Given the description of an element on the screen output the (x, y) to click on. 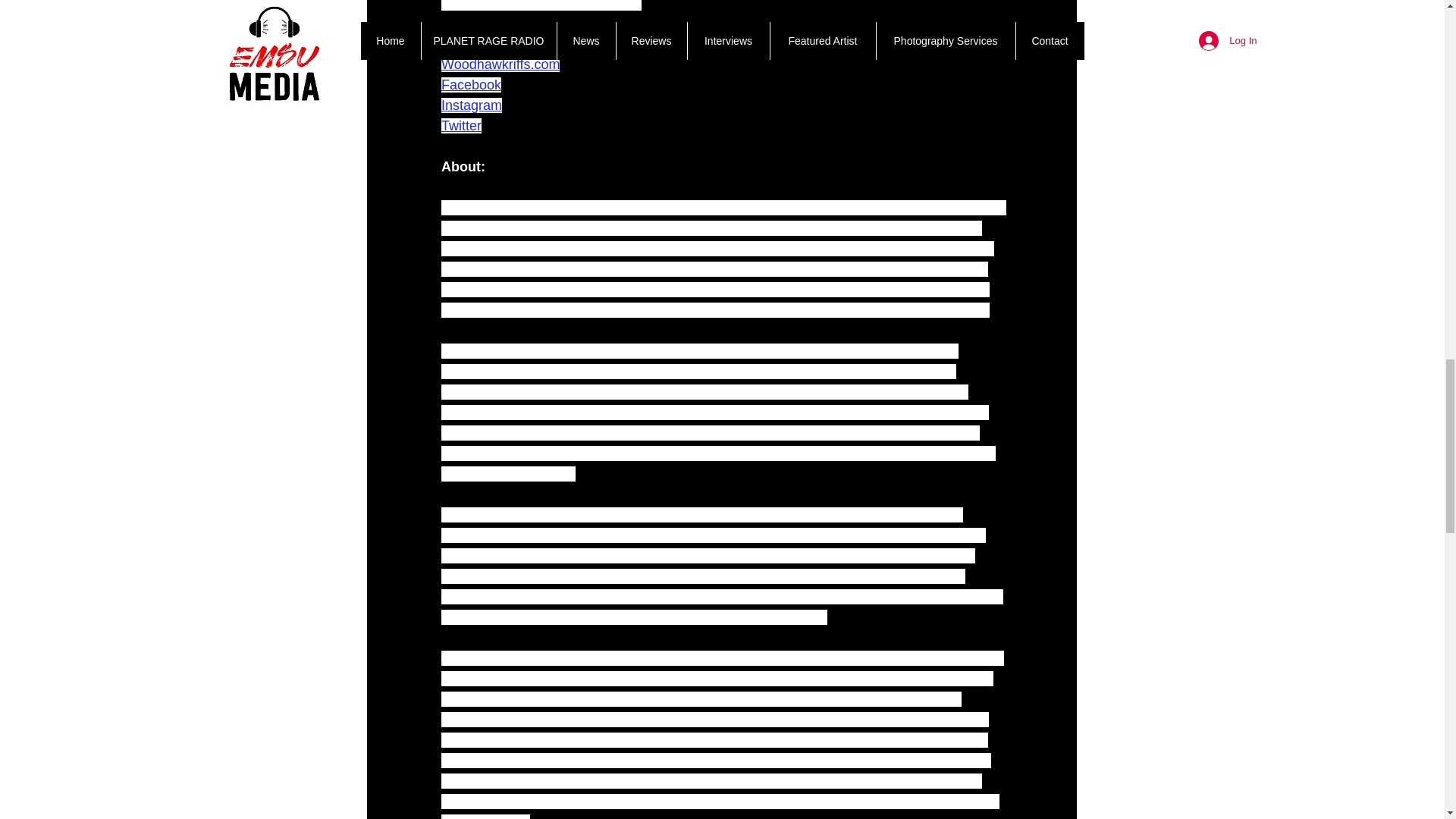
Instagram (471, 105)
Twitter (461, 125)
Woodhawkriffs.com (500, 64)
Facebook (470, 84)
